Given the description of an element on the screen output the (x, y) to click on. 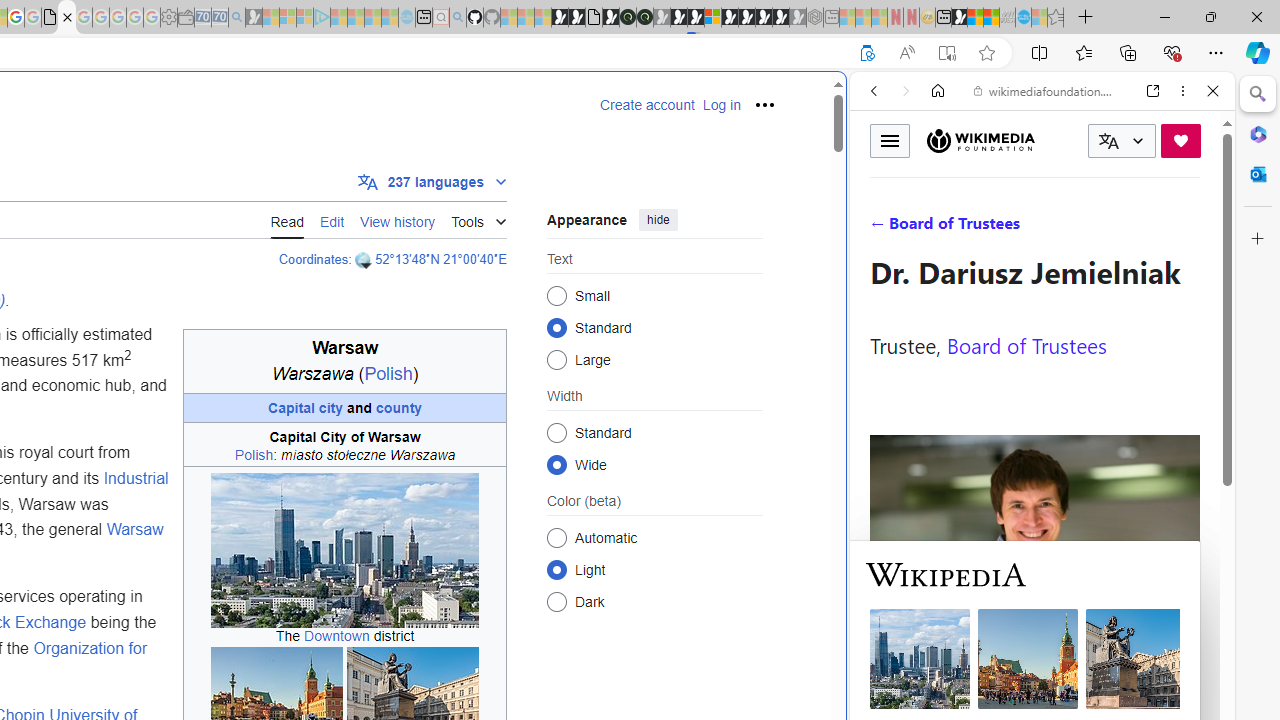
Earth has six continents not seven, radical new study claims (991, 17)
Tabs you've opened (276, 265)
Board of Trustees (1026, 344)
